Given the description of an element on the screen output the (x, y) to click on. 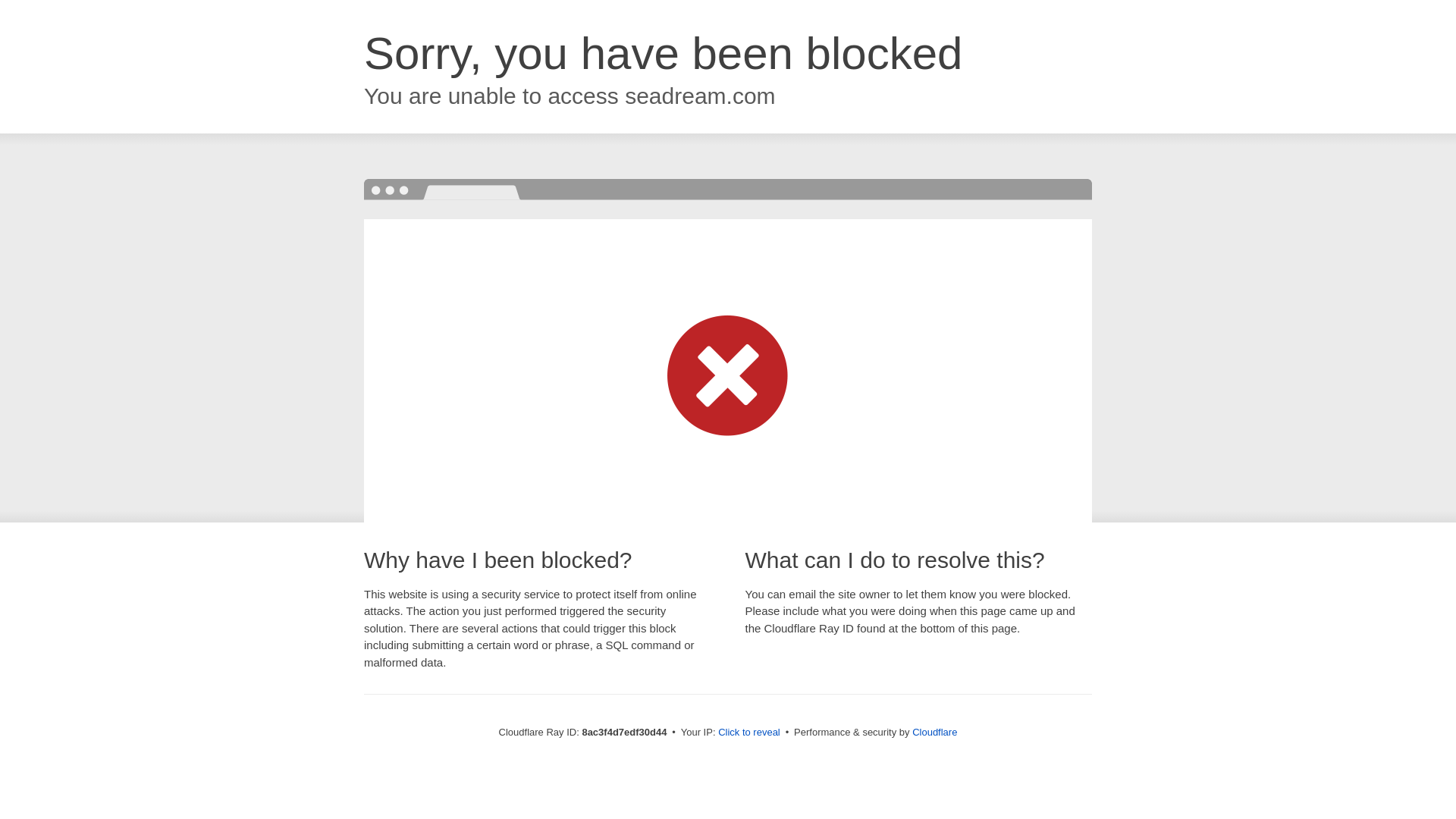
Cloudflare (934, 731)
Click to reveal (748, 732)
